Given the description of an element on the screen output the (x, y) to click on. 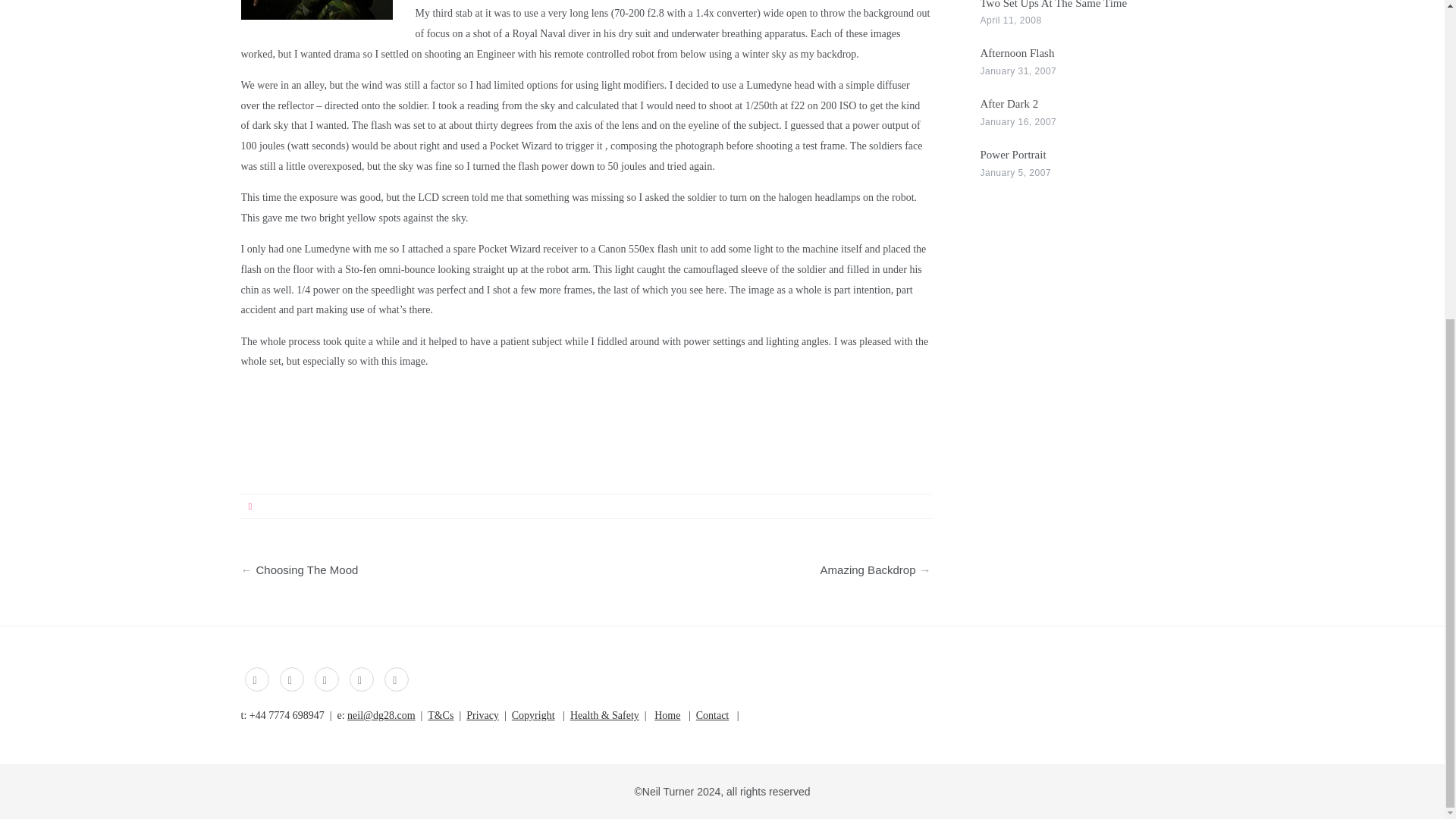
Choosing The Mood (421, 566)
After Dark 2 (1008, 103)
Power Portrait (1012, 154)
Amazing Backdrop (750, 566)
Afternoon Flash (1016, 52)
Two Set Ups At The Same Time (1052, 4)
